Given the description of an element on the screen output the (x, y) to click on. 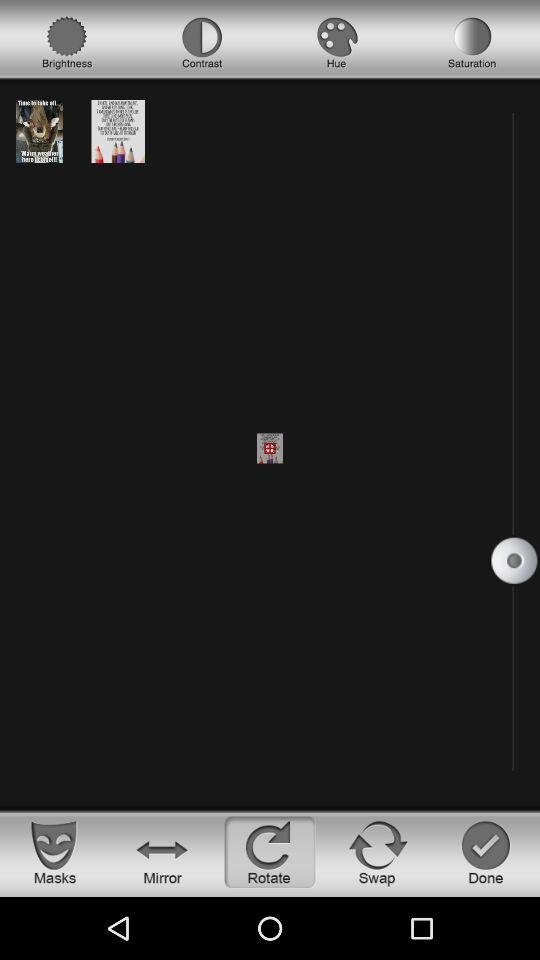
choose project (39, 130)
